Given the description of an element on the screen output the (x, y) to click on. 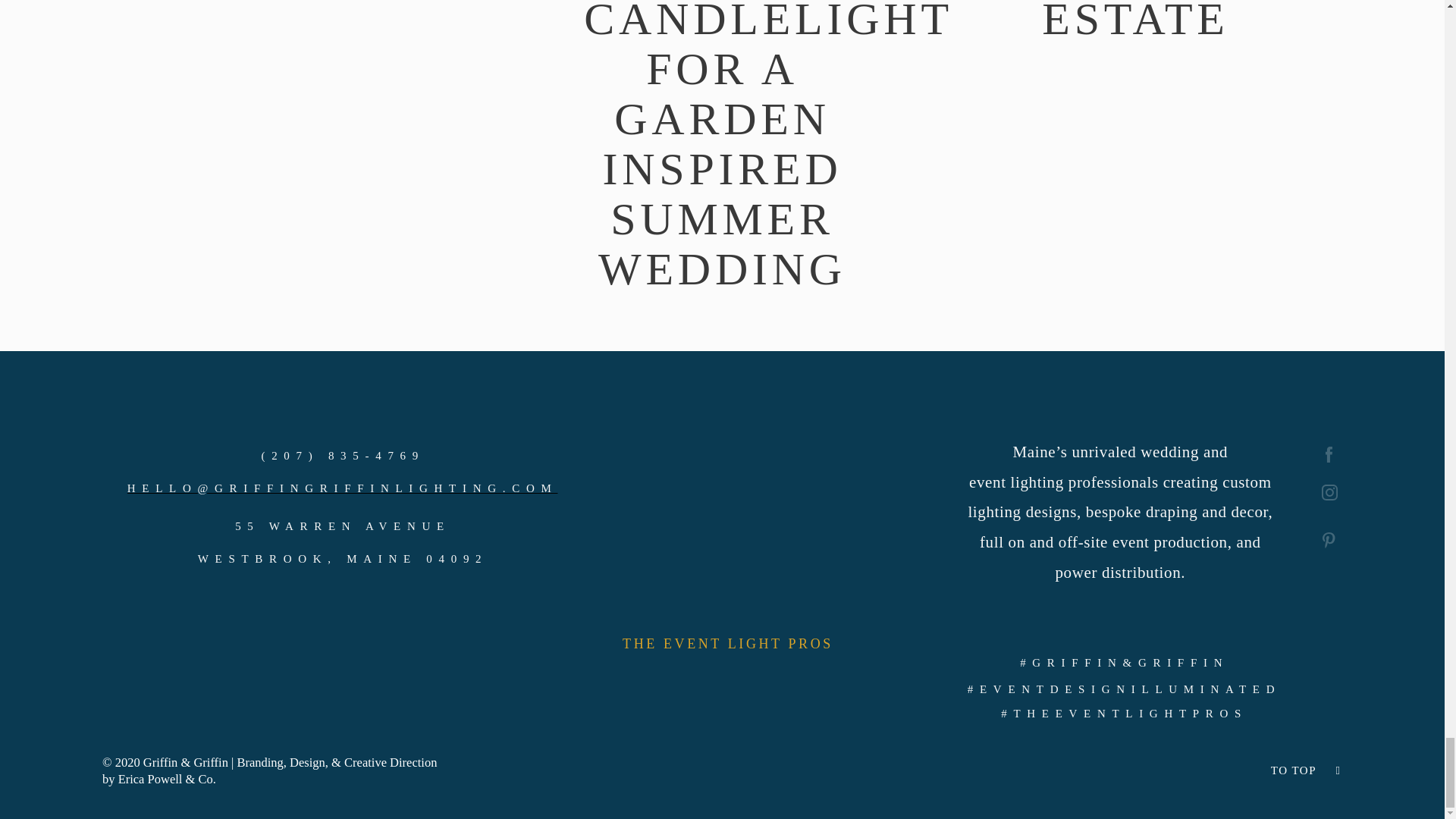
TO TOP (1135, 770)
TO TOP (1293, 770)
